Given the description of an element on the screen output the (x, y) to click on. 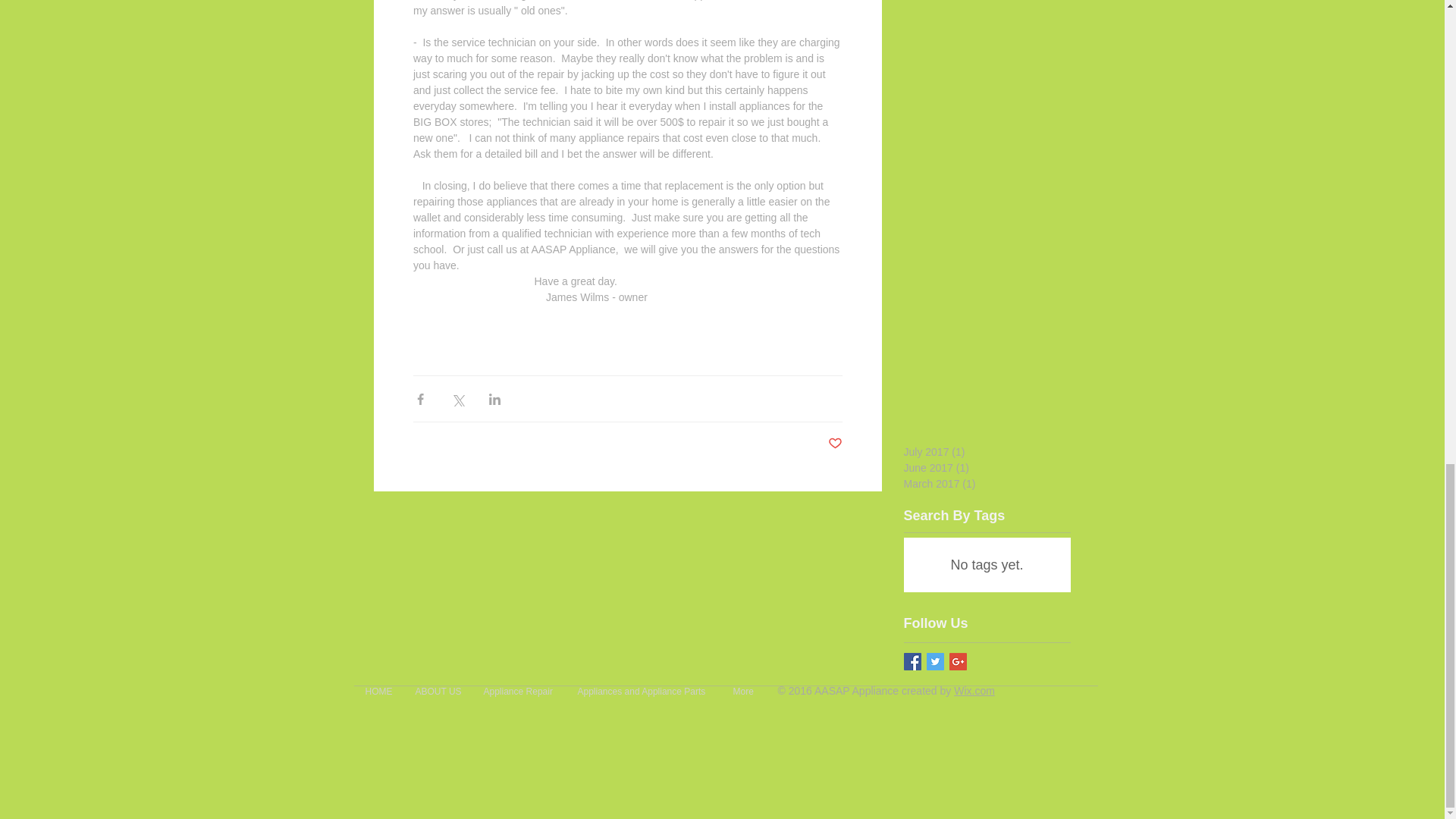
Appliance Repair (518, 689)
Wix.com (973, 690)
Appliances and Appliance Parts (643, 689)
Post not marked as liked (835, 443)
ABOUT US (437, 689)
HOME (378, 689)
